Given the description of an element on the screen output the (x, y) to click on. 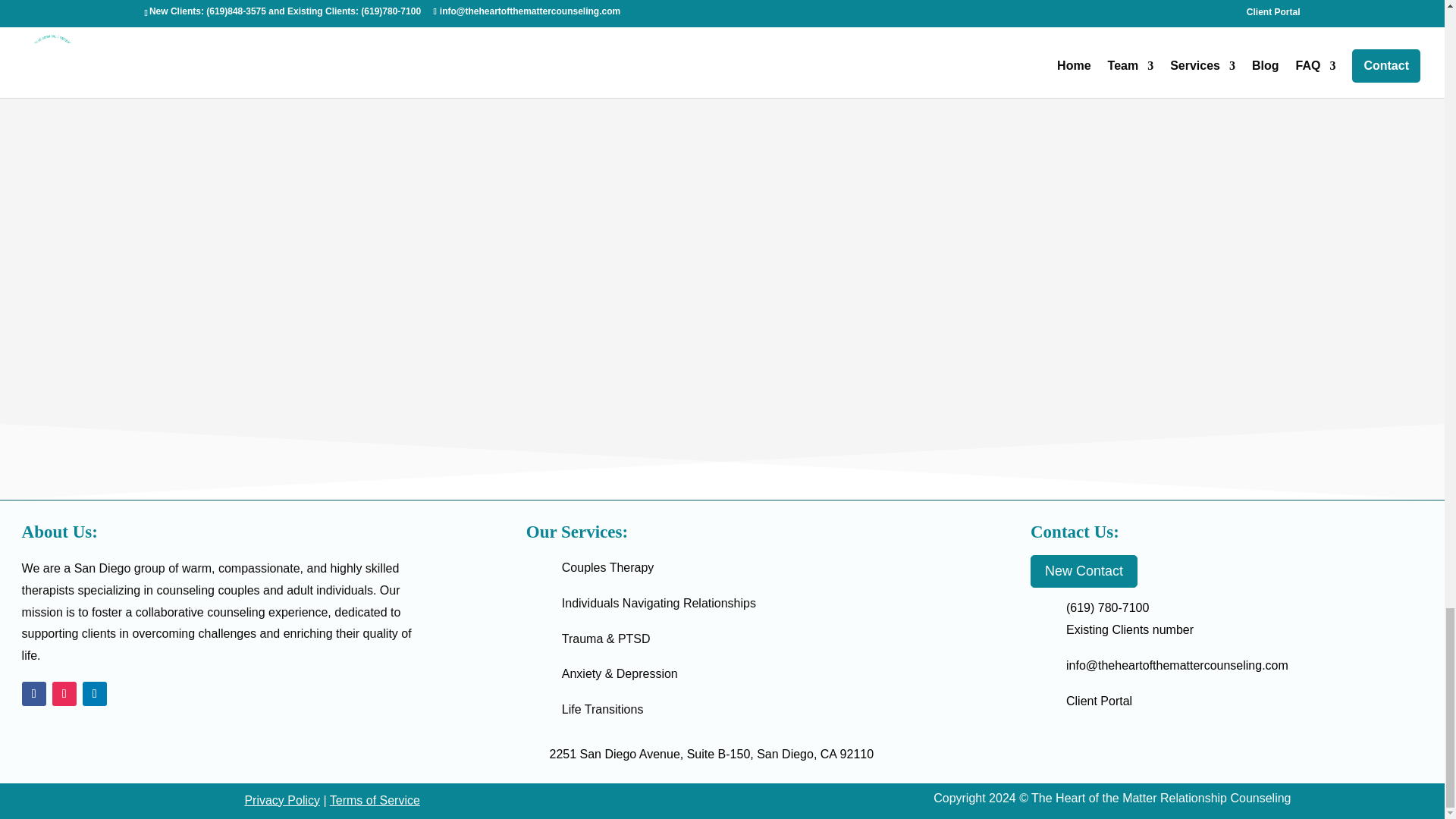
Search (1080, 26)
Follow on Facebook (33, 693)
Search (1080, 26)
Follow on Instagram (64, 693)
Search (1080, 26)
Follow on LinkedIn (94, 693)
